Given the description of an element on the screen output the (x, y) to click on. 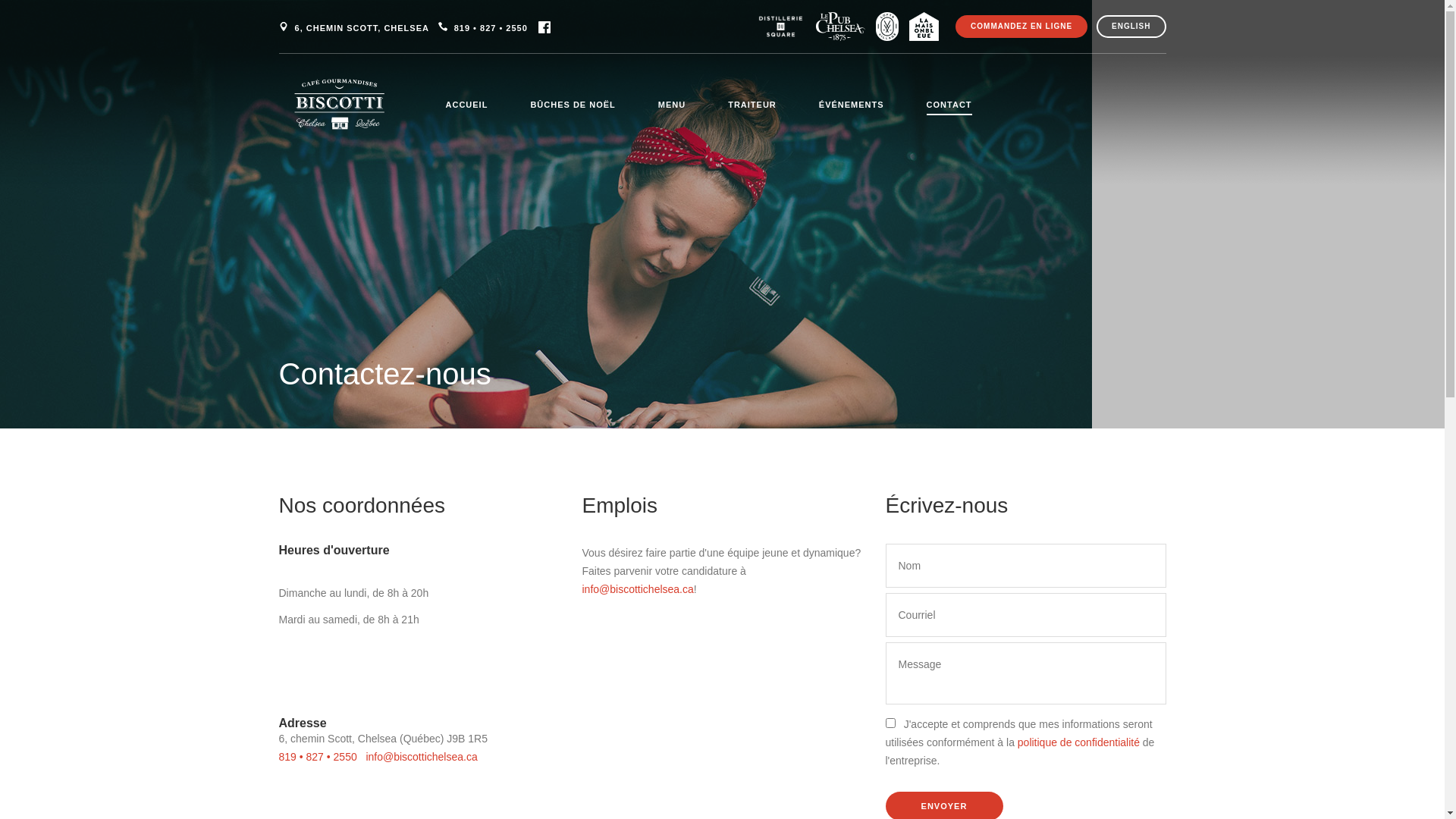
CONTACT Element type: text (949, 107)
TRAITEUR Element type: text (752, 106)
COMMANDEZ EN LIGNE Element type: text (1021, 26)
info@biscottichelsea.ca Element type: text (420, 756)
ACCUEIL Element type: text (466, 106)
ENGLISH Element type: text (1130, 26)
info@biscottichelsea.ca Element type: text (637, 589)
MENU Element type: text (671, 106)
